Given the description of an element on the screen output the (x, y) to click on. 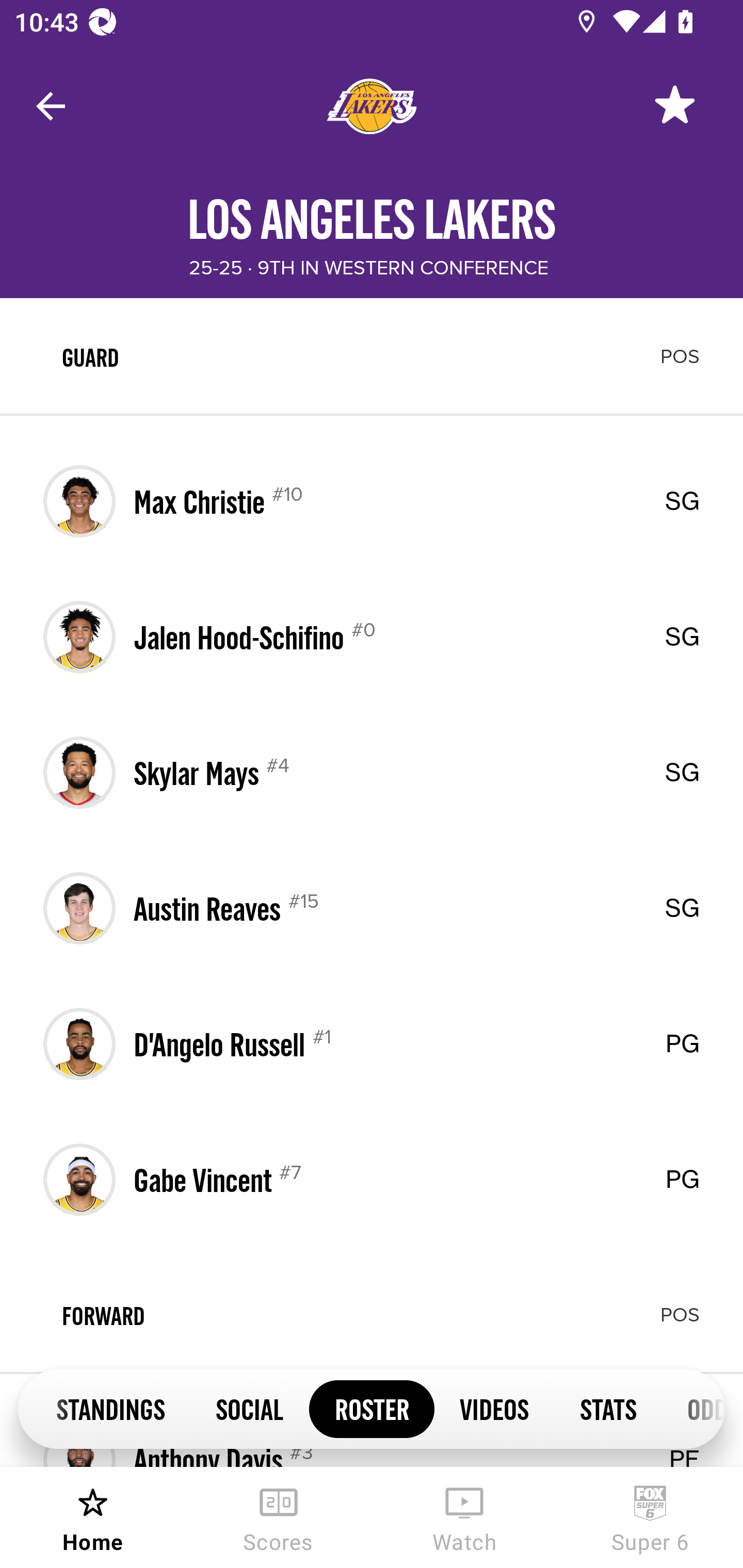
Navigate up (50, 106)
25-25 · 9TH IN WESTERN CONFERENCE (368, 267)
GUARD POS (371, 356)
Max Christie #10 SG (371, 501)
Jalen Hood-Schifino #0 SG (371, 636)
Skylar Mays #4 SG (371, 772)
Austin Reaves #15 SG (371, 907)
D'Angelo Russell #1 PG (371, 1044)
Gabe Vincent #7 PG (371, 1179)
FORWARD POS (371, 1315)
STANDINGS (110, 1408)
SOCIAL (249, 1408)
VIDEOS (494, 1408)
STATS (607, 1408)
Scores (278, 1517)
Watch (464, 1517)
Super 6 (650, 1517)
